Given the description of an element on the screen output the (x, y) to click on. 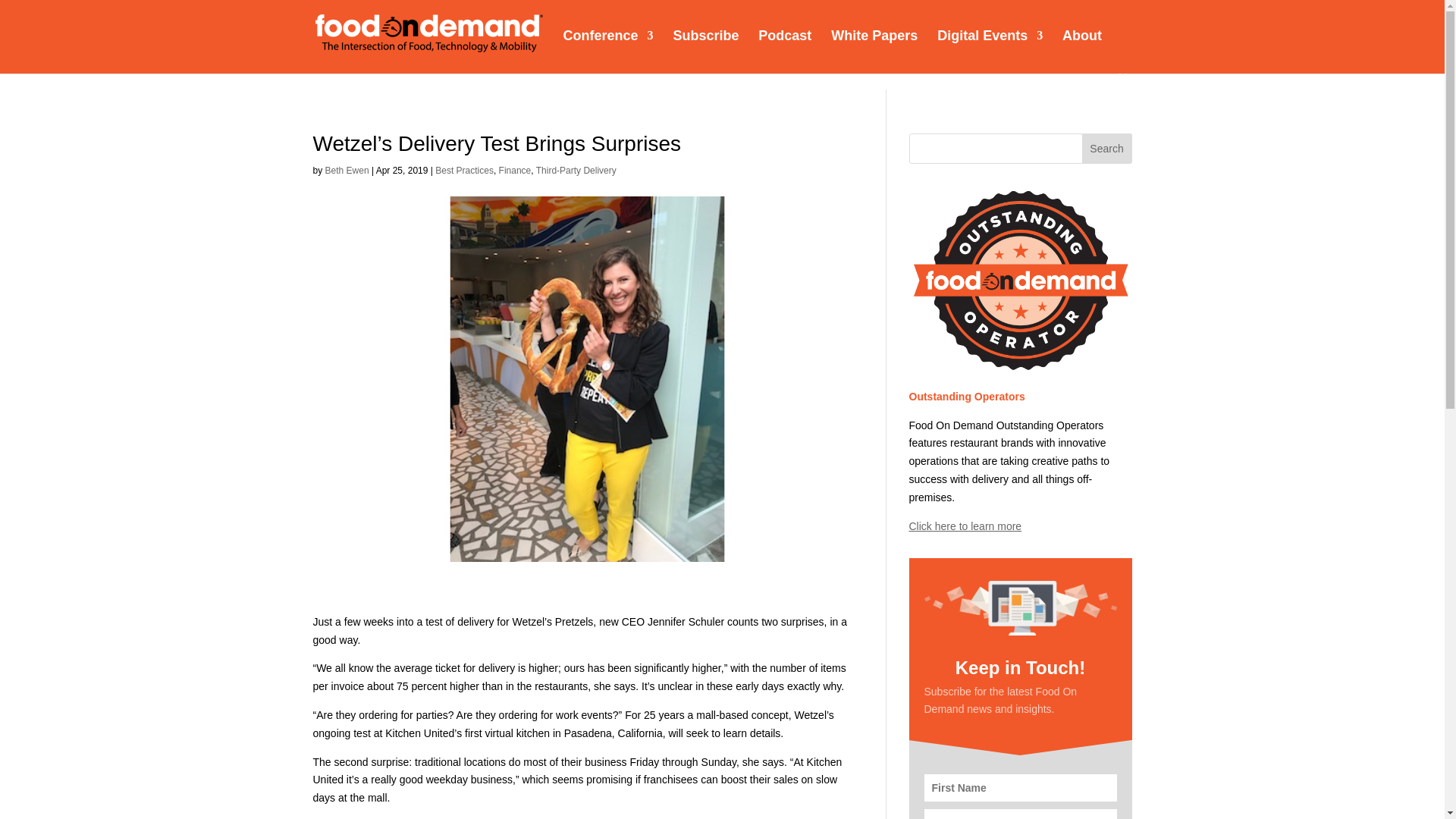
Beth Ewen (346, 170)
About (1082, 50)
White Papers (874, 50)
Search (1106, 148)
Posts by Beth Ewen (346, 170)
Search (1106, 148)
Digital Events (989, 50)
Podcast (784, 50)
Best Practices (464, 170)
Conference (607, 50)
Click here to learn more (965, 526)
Finance (515, 170)
Third-Party Delivery (575, 170)
Subscribe (705, 50)
